Given the description of an element on the screen output the (x, y) to click on. 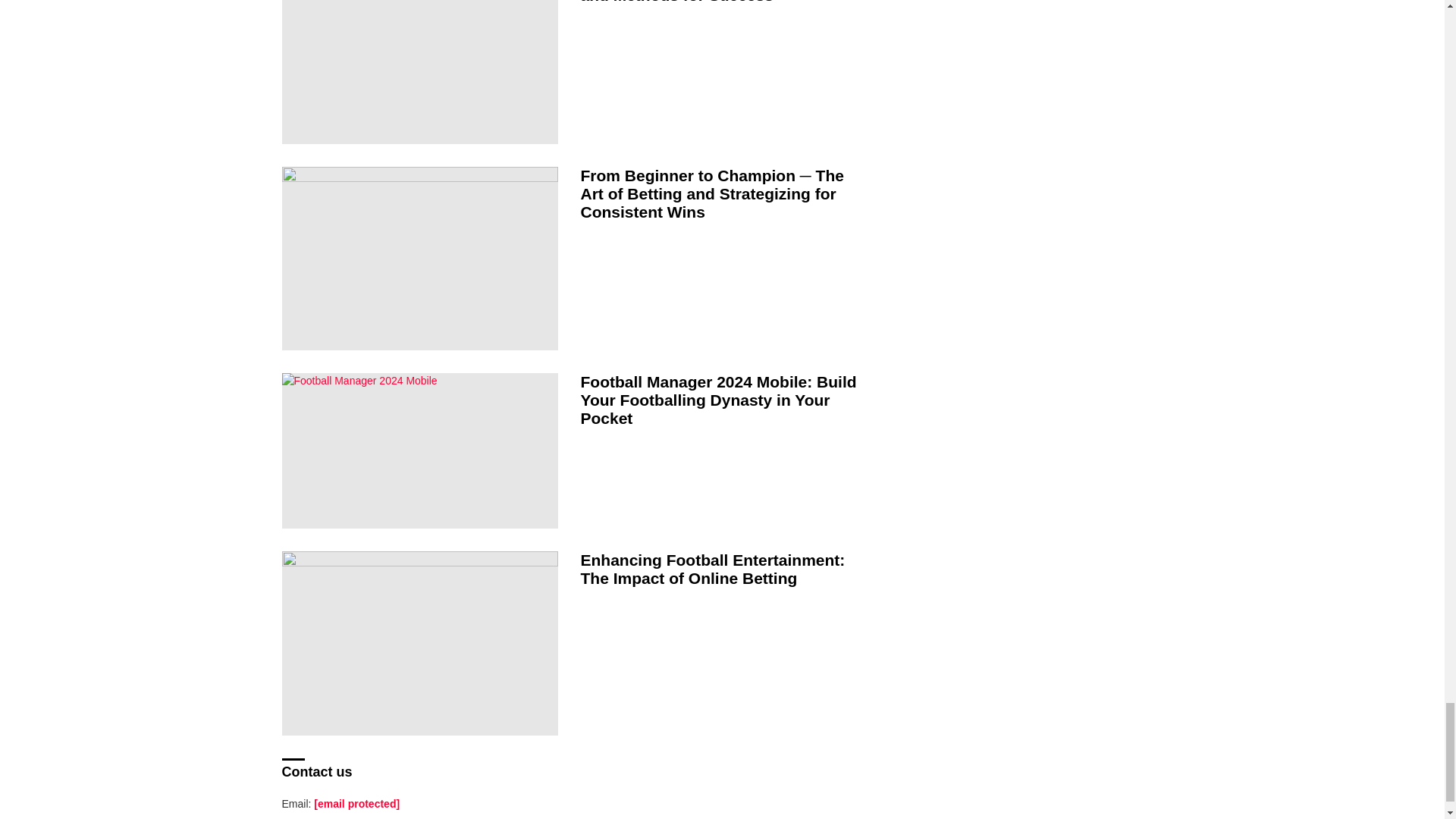
Motivation for Athletes: Strategies and Methods for Success (419, 72)
